Given the description of an element on the screen output the (x, y) to click on. 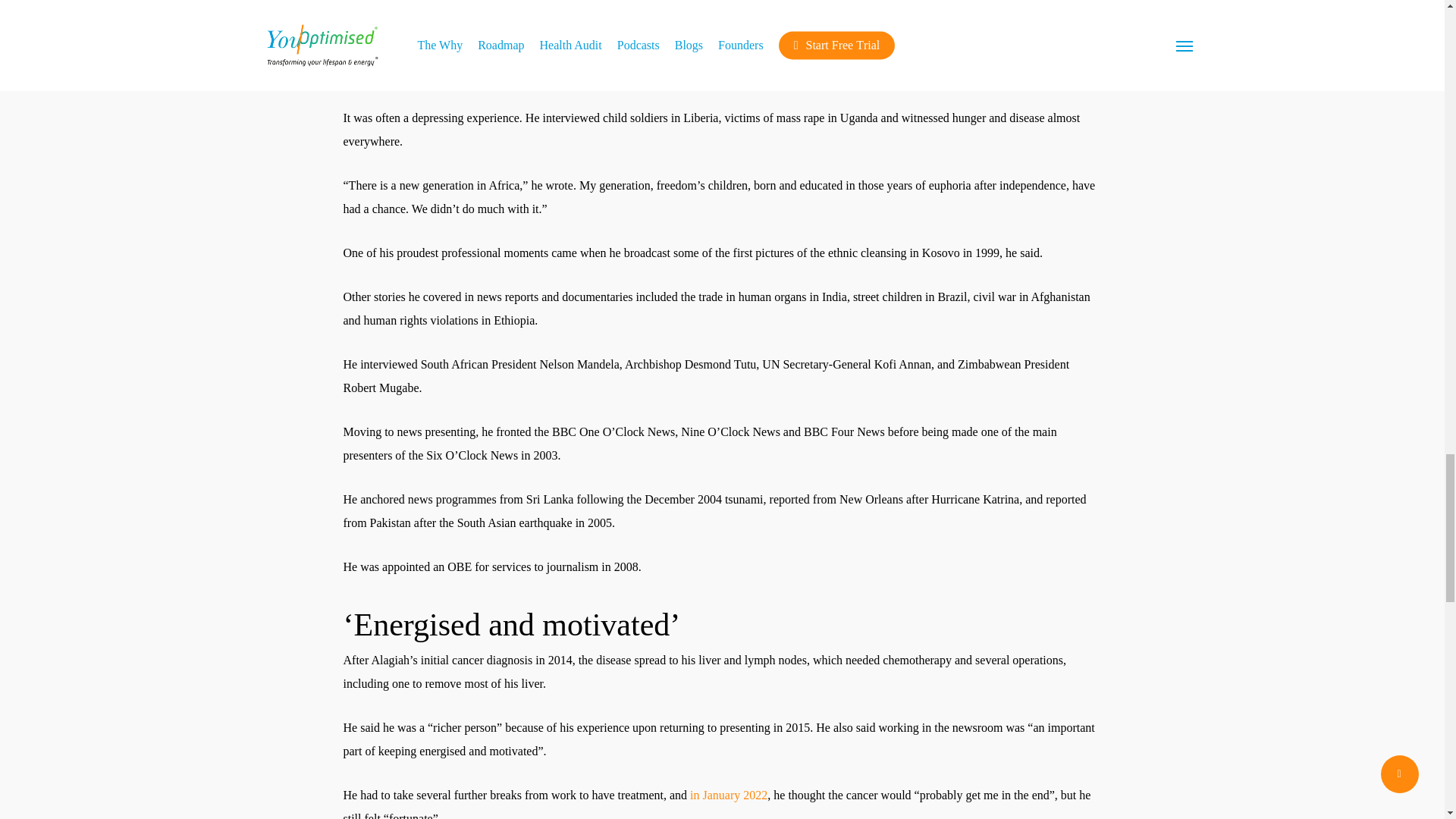
in January 2022 (728, 794)
